Given the description of an element on the screen output the (x, y) to click on. 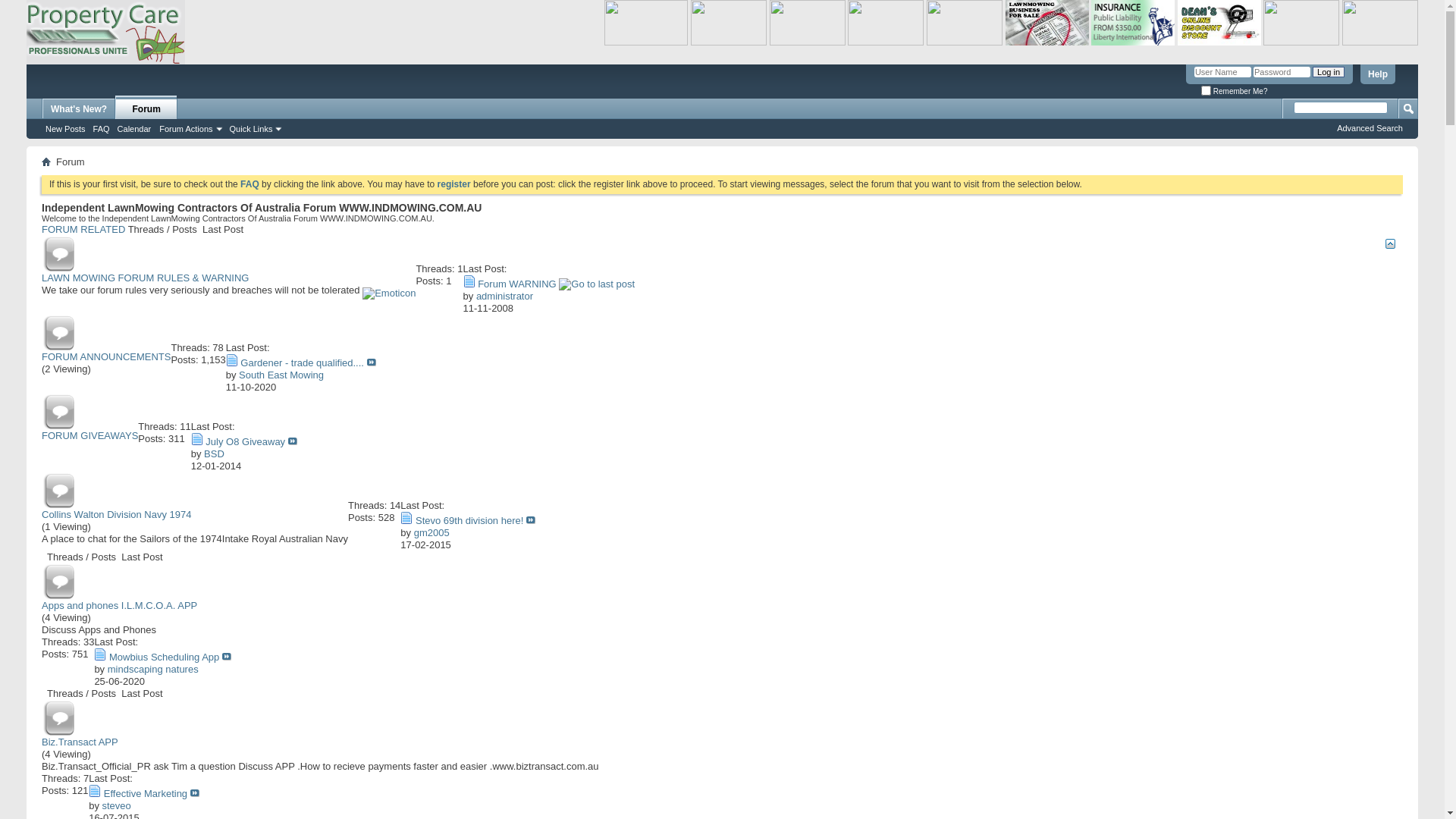
Mowbius Scheduling App Element type: text (164, 656)
Go to last post Element type: hover (226, 656)
Independent LawnMowing Contractors Of Australia Forum Element type: hover (105, 32)
Quick Links Element type: text (255, 128)
FORUM ANNOUNCEMENTS Element type: text (105, 356)
Effective Marketing Element type: text (145, 793)
Gardener - trade qualified.... Element type: text (302, 362)
Go to last post Element type: hover (530, 520)
Go to last post Element type: hover (292, 441)
Help Element type: text (1377, 74)
FAQ Element type: text (249, 183)
South East Mowing Element type: text (280, 374)
Stevo 69th division here! Element type: text (469, 520)
mindscaping natures Element type: text (152, 668)
FAQ Element type: text (101, 128)
New Posts Element type: text (65, 128)
Go to last post Element type: hover (596, 284)
gm2005 Element type: text (431, 532)
FORUM RELATED Element type: text (83, 229)
LAWN MOWING FORUM RULES & WARNING Element type: text (144, 277)
BSD Element type: text (213, 453)
administrator Element type: text (504, 295)
steveo Element type: text (115, 805)
Forum Actions Element type: text (189, 128)
Go to last post Element type: hover (194, 793)
FORUM GIVEAWAYS Element type: text (89, 435)
Calendar Element type: text (134, 128)
Go to last post Element type: hover (371, 362)
July O8 Giveaway Element type: text (245, 441)
Biz.Transact APP Element type: text (79, 741)
Log in Element type: text (1328, 71)
register Element type: text (453, 183)
Forum WARNING Element type: text (516, 283)
Home Element type: hover (45, 160)
Advanced Search Element type: text (1369, 127)
Emoticon Element type: hover (388, 293)
What's New? Element type: text (78, 108)
Forum Element type: text (145, 107)
Apps and phones I.L.M.C.O.A. APP Element type: text (119, 605)
Collins Walton Division Navy 1974 Element type: text (116, 514)
